Given the description of an element on the screen output the (x, y) to click on. 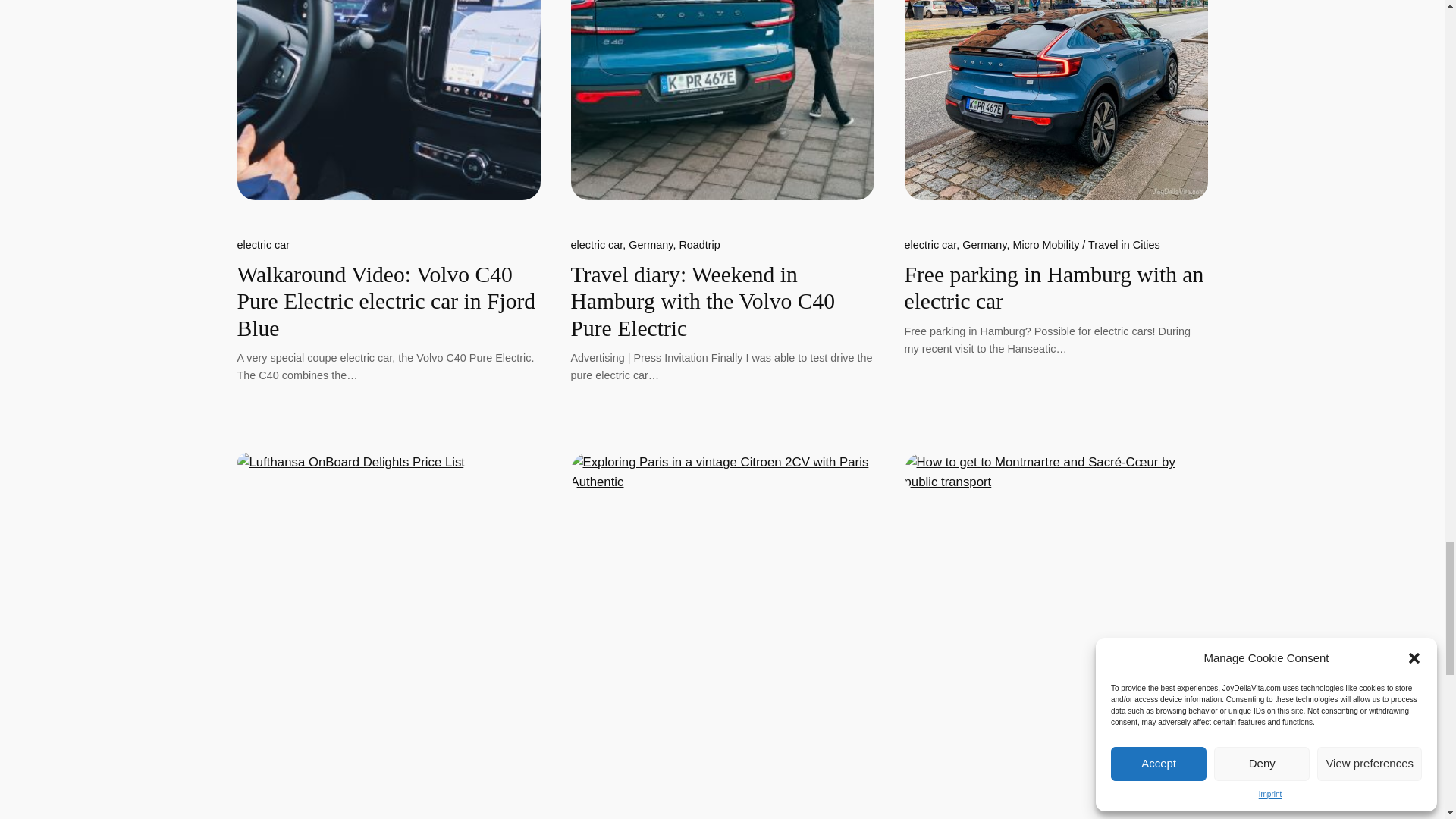
Free parking in Hamburg with an electric car 38 (1055, 99)
